Given the description of an element on the screen output the (x, y) to click on. 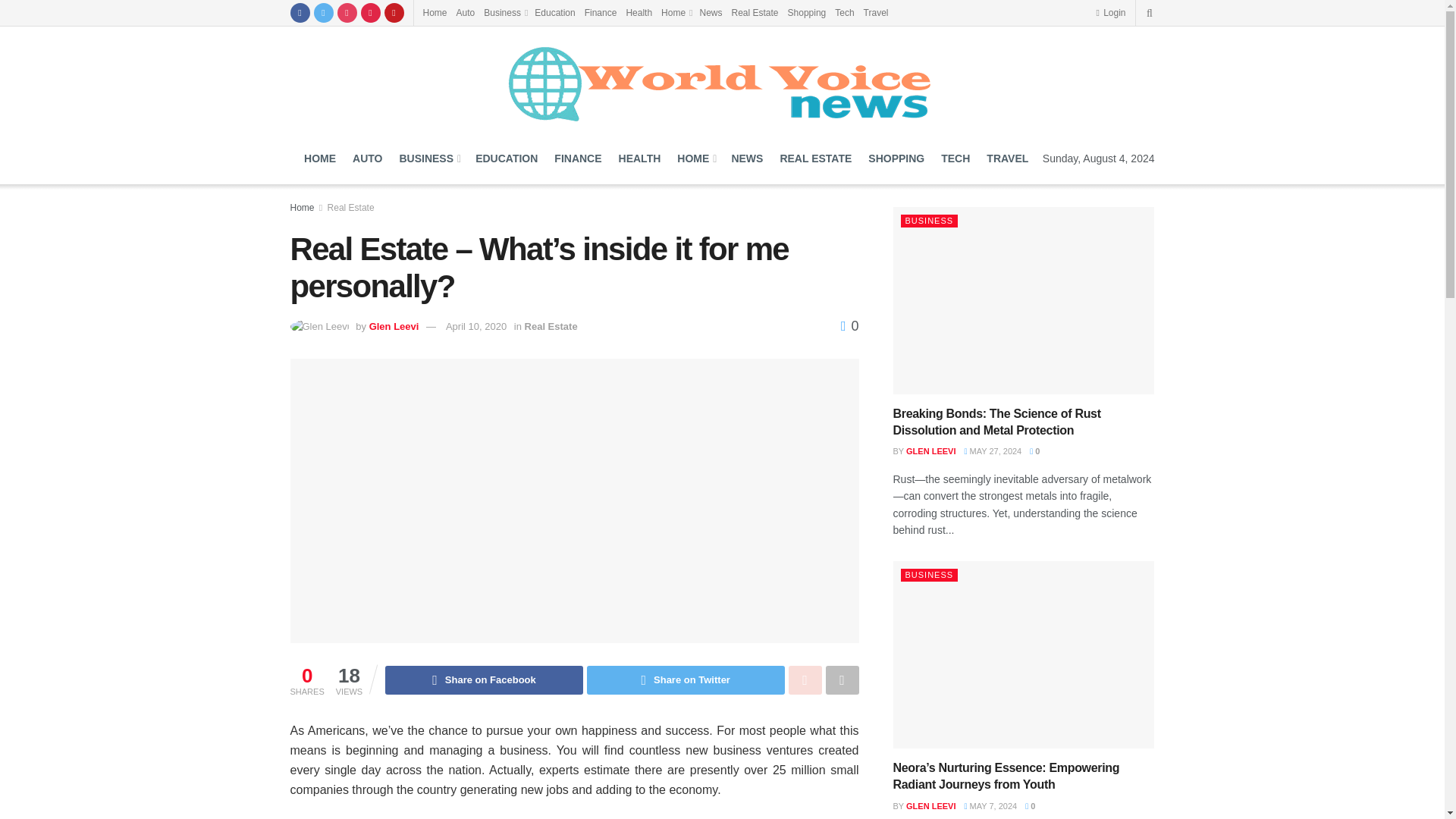
Shopping (807, 12)
EDUCATION (506, 158)
Education (554, 12)
Login (1110, 12)
Home (434, 12)
Finance (601, 12)
Health (639, 12)
FINANCE (577, 158)
SHOPPING (895, 158)
Travel (875, 12)
